Given the description of an element on the screen output the (x, y) to click on. 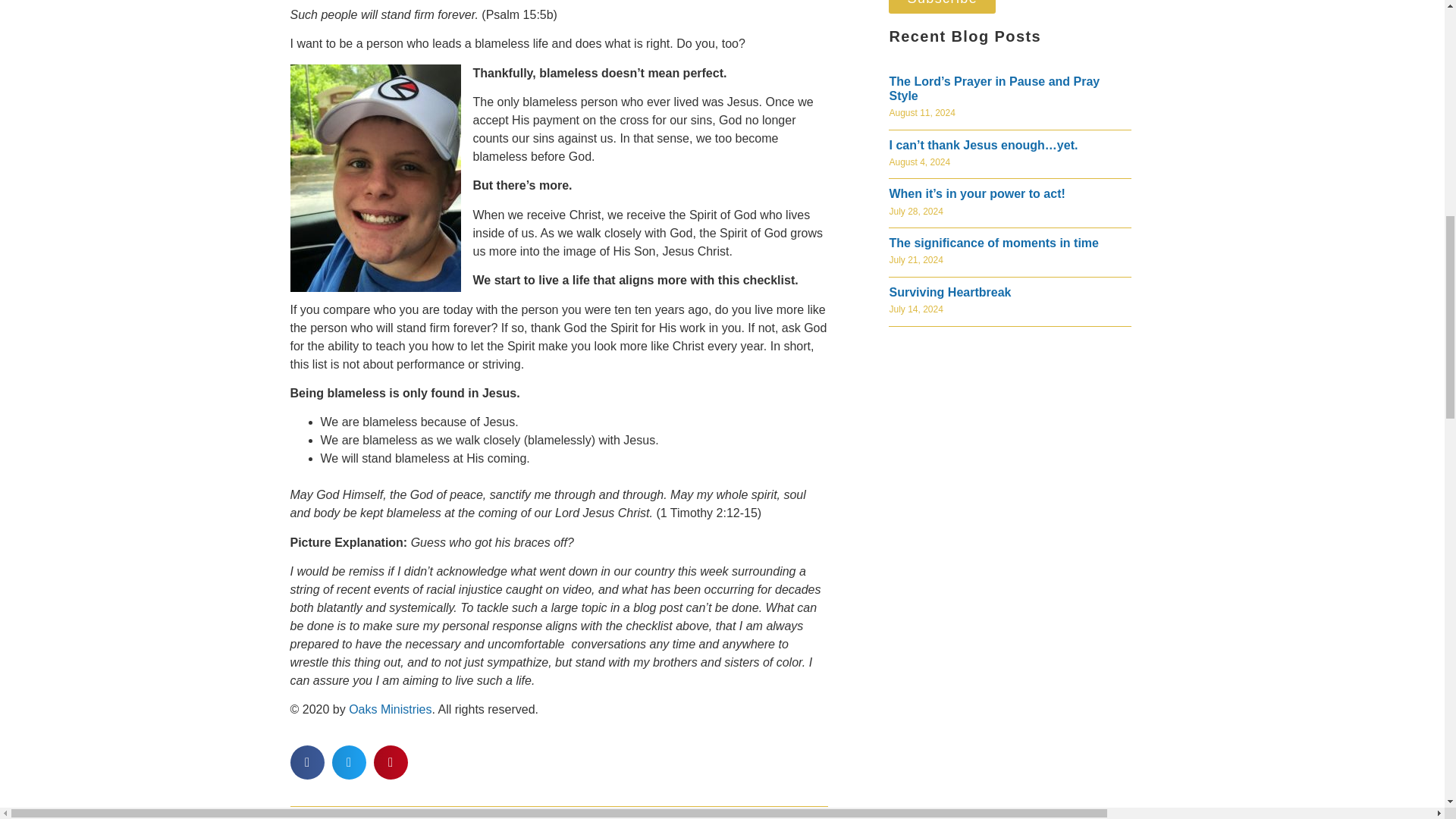
Oaks Ministries (389, 708)
The significance of moments in time (993, 242)
Surviving Heartbreak (949, 291)
Subscribe (941, 6)
